Given the description of an element on the screen output the (x, y) to click on. 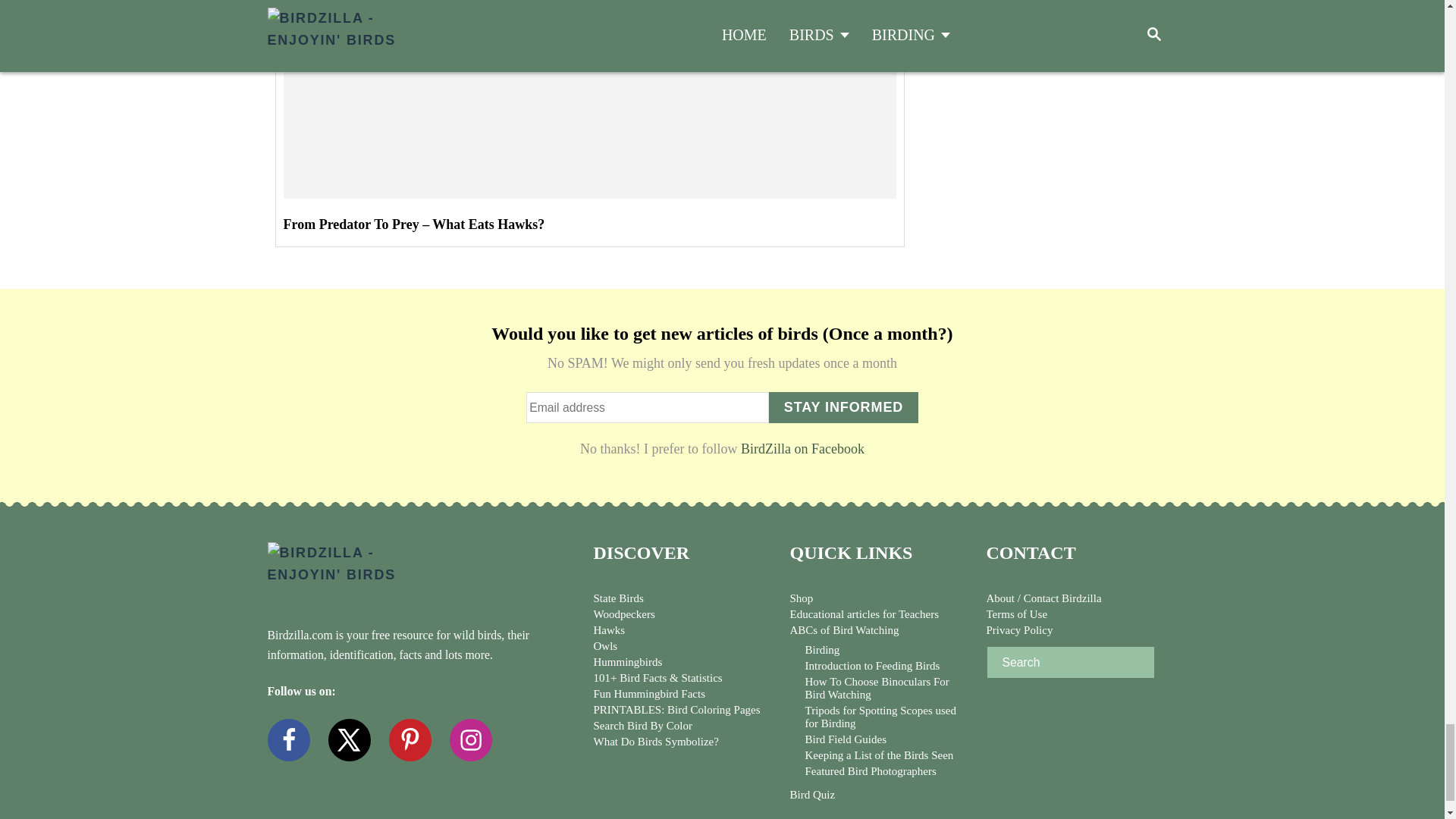
Follow on Instagram (478, 734)
Search for: (1069, 662)
Birdzilla - Enjoyin' Birds (365, 570)
Follow on Pinterest (418, 734)
Follow on Facebook (296, 734)
Follow on X (357, 734)
